Given the description of an element on the screen output the (x, y) to click on. 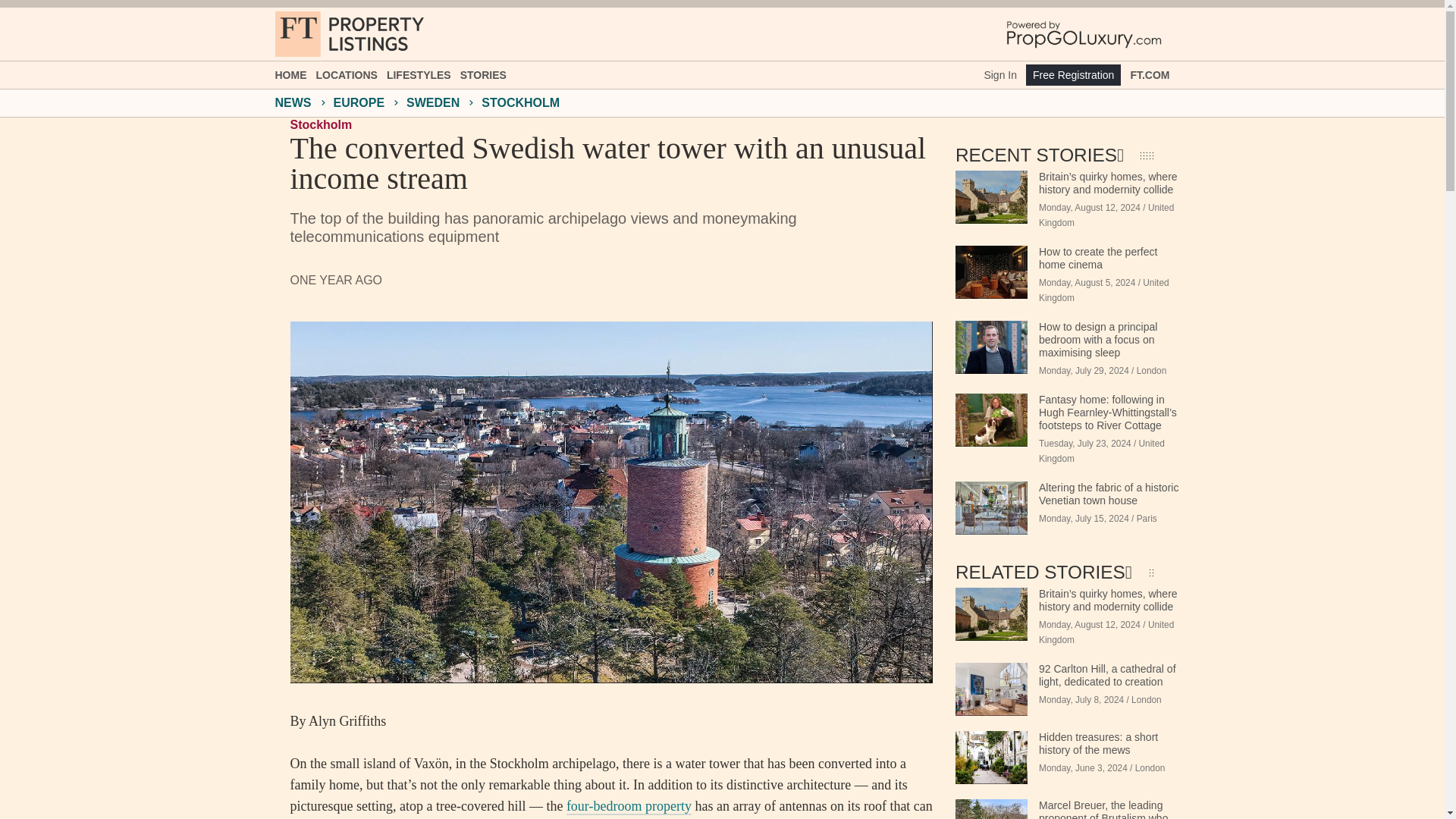
LOCATIONS (346, 74)
Powered By PropGoLuxury.com (1083, 33)
LIFESTYLES (419, 74)
HOME (290, 74)
